Given the description of an element on the screen output the (x, y) to click on. 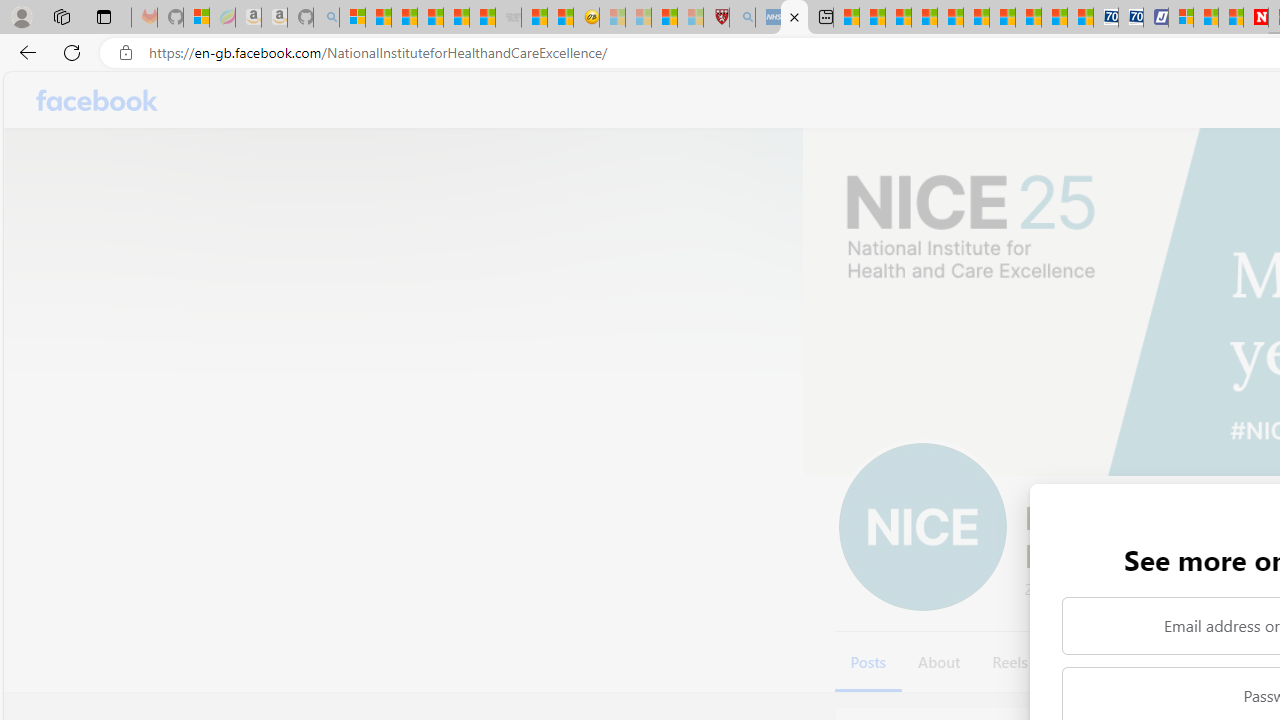
Robert H. Shmerling, MD - Harvard Health (716, 17)
Science - MSN (664, 17)
Facebook (97, 99)
The Weather Channel - MSN (404, 17)
